Given the description of an element on the screen output the (x, y) to click on. 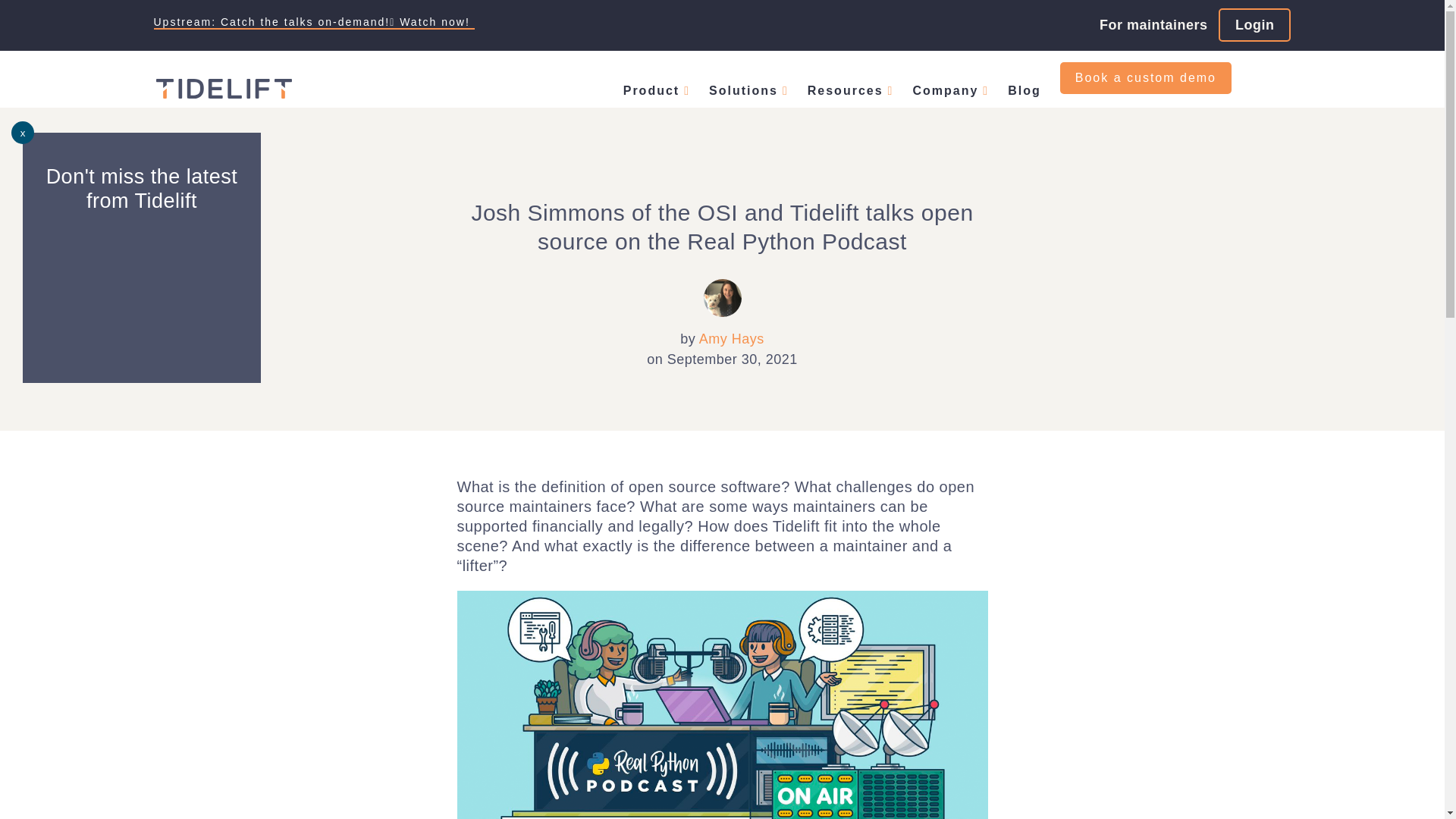
For maintainers (1153, 24)
Login (1254, 24)
Tidelift-logo-on-light (223, 88)
Resources (850, 90)
Product (656, 90)
Solutions (749, 90)
